Given the description of an element on the screen output the (x, y) to click on. 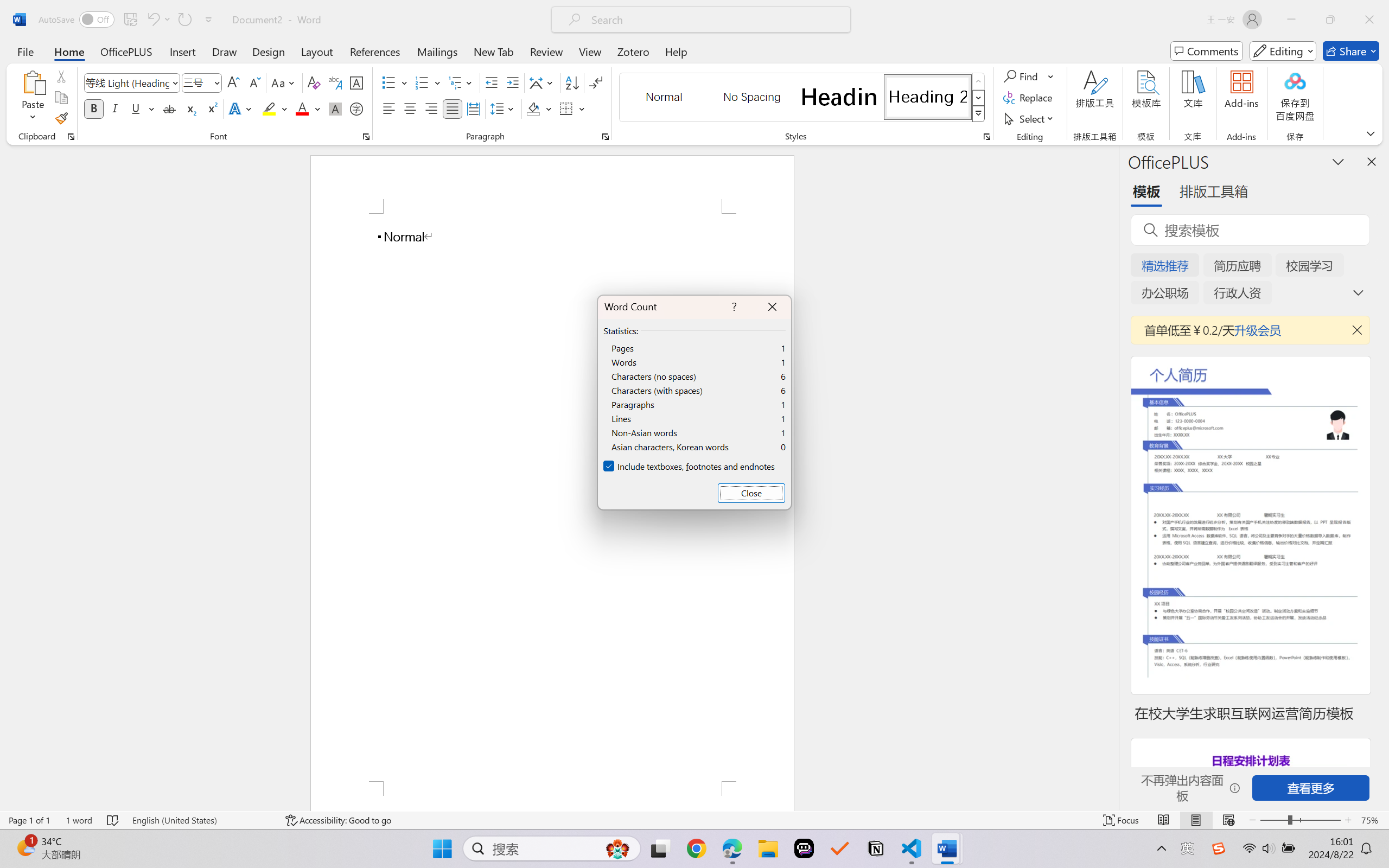
Clear Formatting (313, 82)
Home (69, 51)
Zotero (632, 51)
Text Highlight Color (274, 108)
Font... (365, 136)
Superscript (210, 108)
Format Painter (60, 118)
Heading 2 (927, 96)
AutoSave (76, 19)
New Tab (493, 51)
Copy (60, 97)
